Given the description of an element on the screen output the (x, y) to click on. 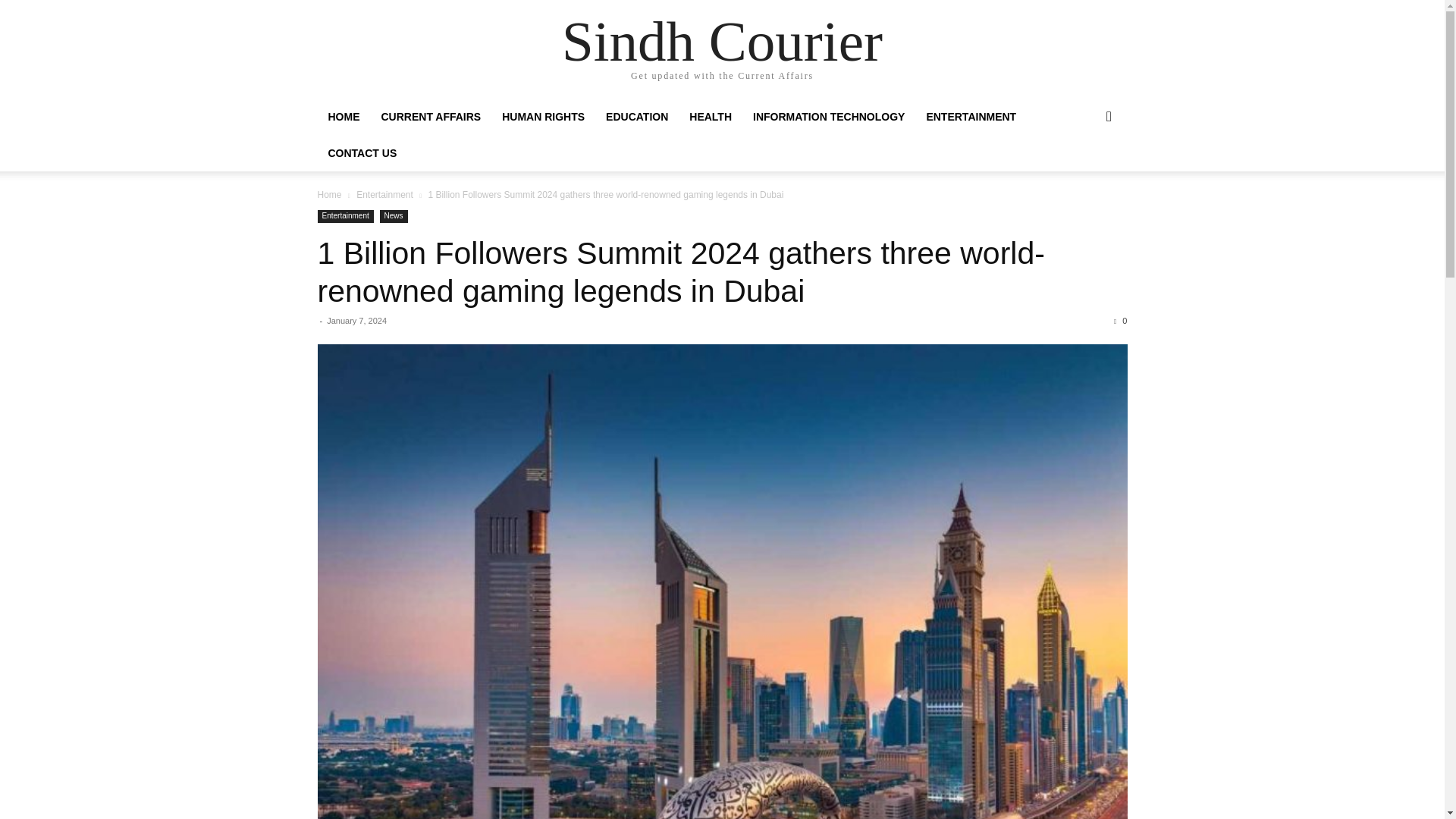
View all posts in Entertainment (384, 194)
EDUCATION (636, 116)
HEALTH (710, 116)
HOME (343, 116)
0 (1119, 320)
CONTACT US (362, 152)
CURRENT AFFAIRS (430, 116)
Entertainment (384, 194)
